Given the description of an element on the screen output the (x, y) to click on. 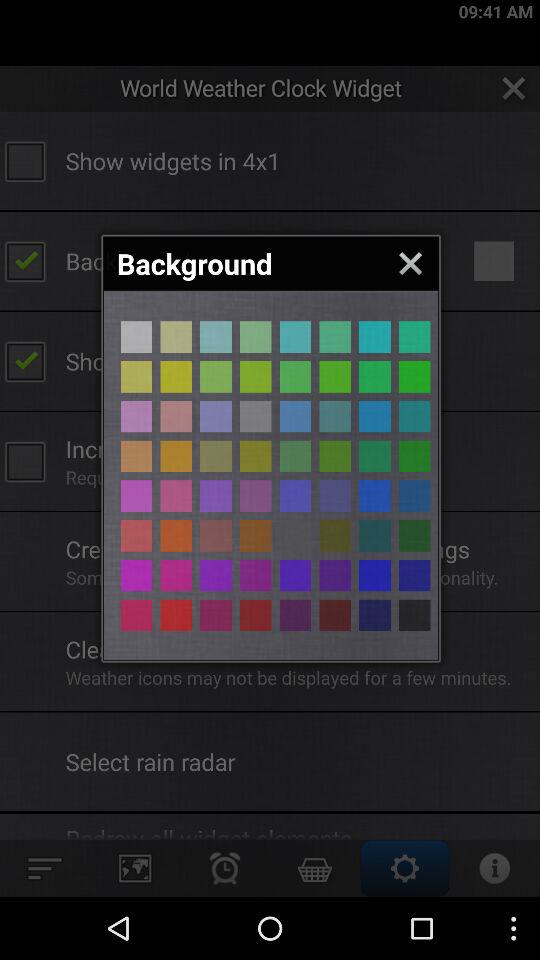
select color (414, 615)
